Given the description of an element on the screen output the (x, y) to click on. 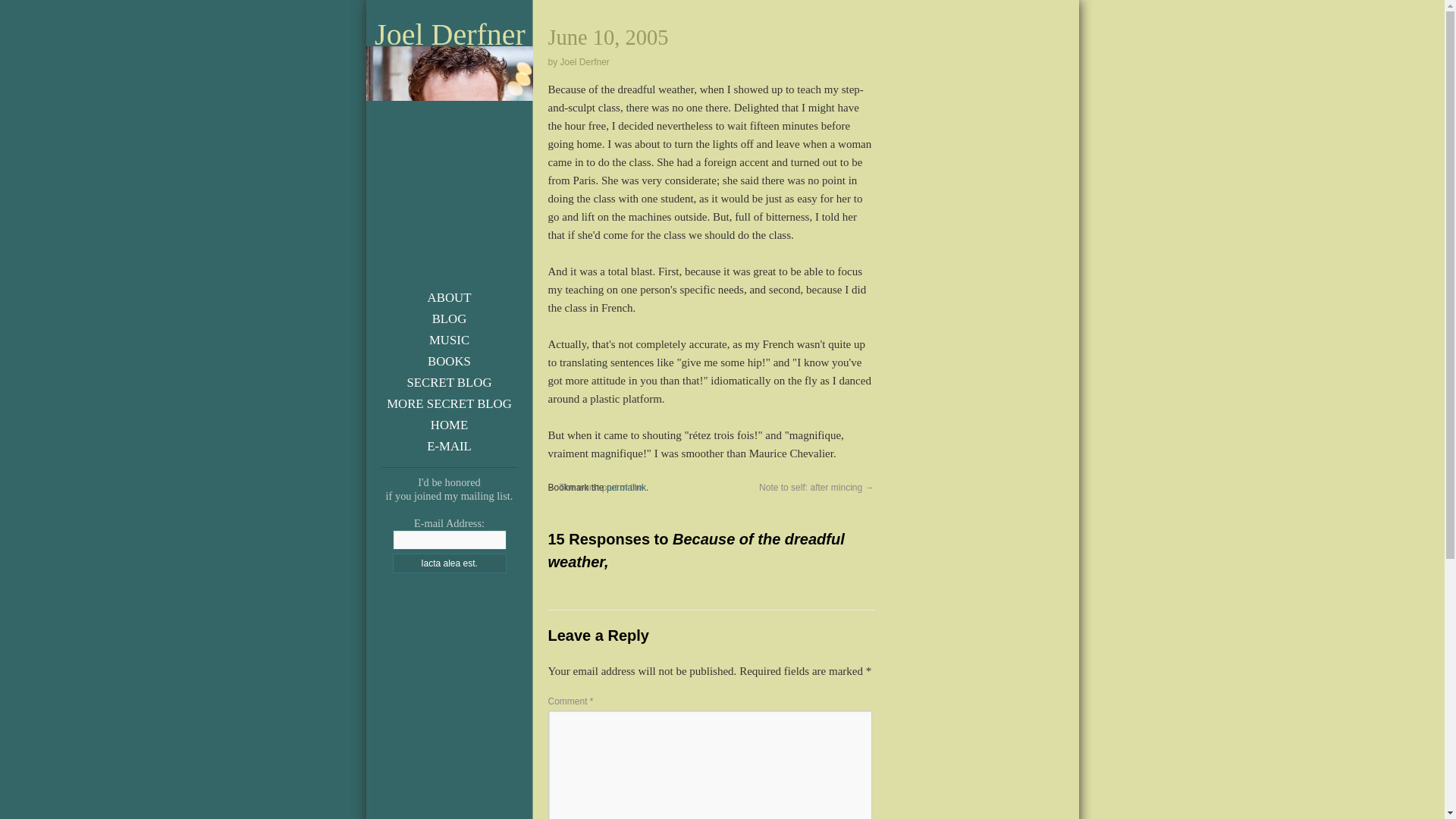
HOME (448, 424)
permalink (626, 487)
BOOKS (449, 360)
BLOG (449, 318)
MUSIC (448, 339)
Iacta alea est. (449, 563)
MORE SECRET BLOG (449, 403)
Permalink to Because of the dreadful weather, (626, 487)
Joel Derfner (449, 34)
Iacta alea est. (449, 563)
